Given the description of an element on the screen output the (x, y) to click on. 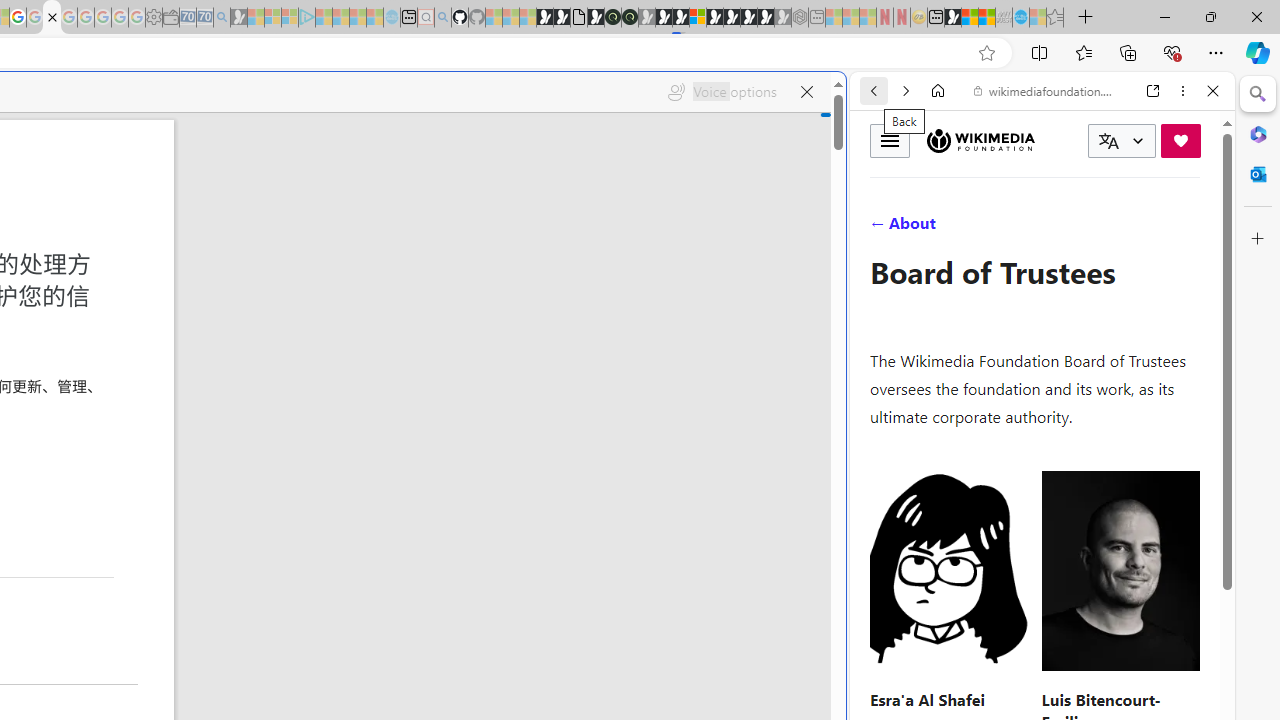
wikimediafoundation.org (1045, 90)
